Given the description of an element on the screen output the (x, y) to click on. 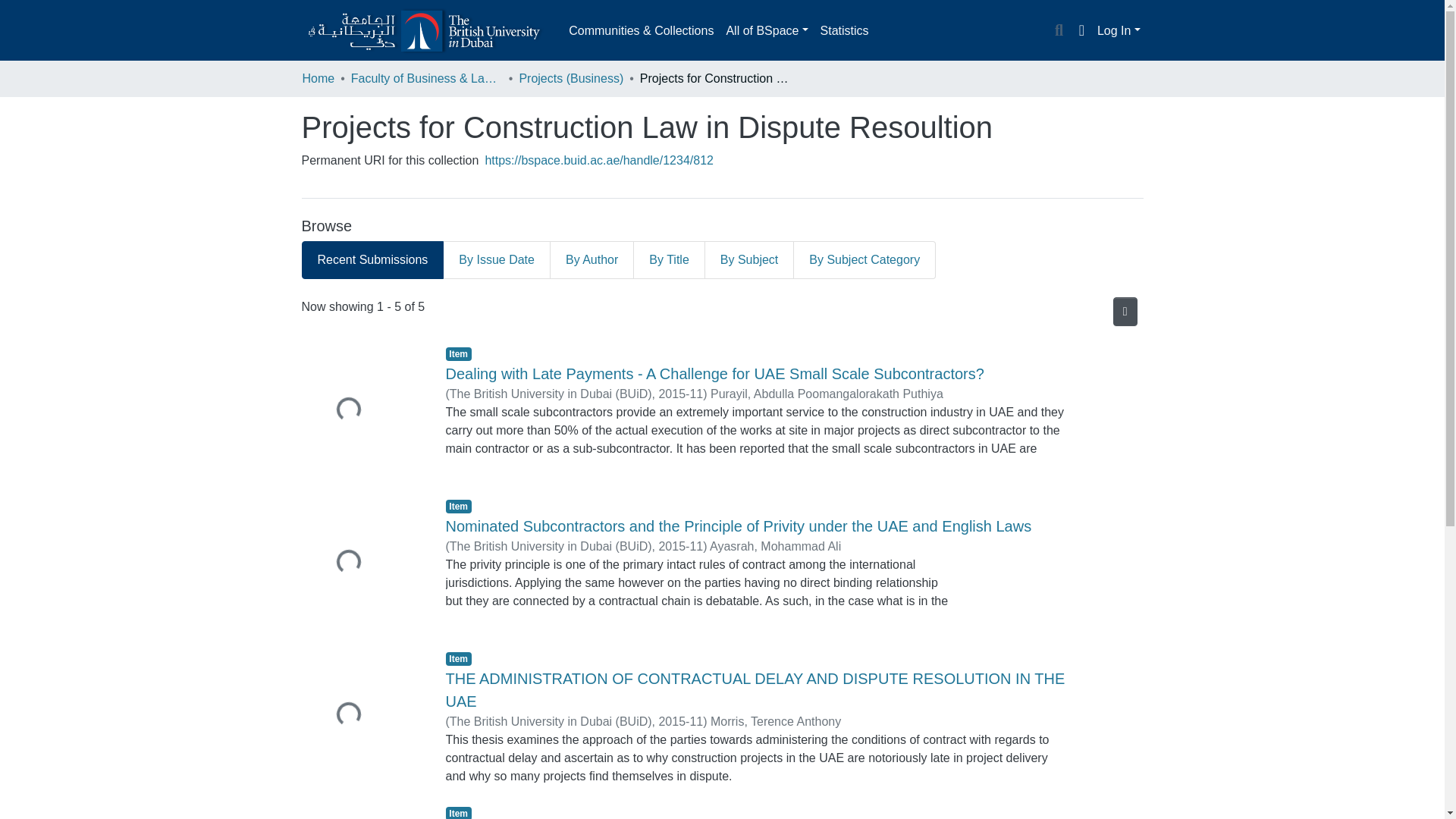
Statistics (844, 30)
By Author (591, 259)
Loading... (362, 563)
By Title (668, 259)
By Issue Date (497, 259)
Search (1058, 30)
Recent Submissions (372, 259)
Loading... (362, 410)
Statistics (844, 30)
Log In (1118, 30)
Language switch (1081, 30)
Loading... (362, 715)
